Given the description of an element on the screen output the (x, y) to click on. 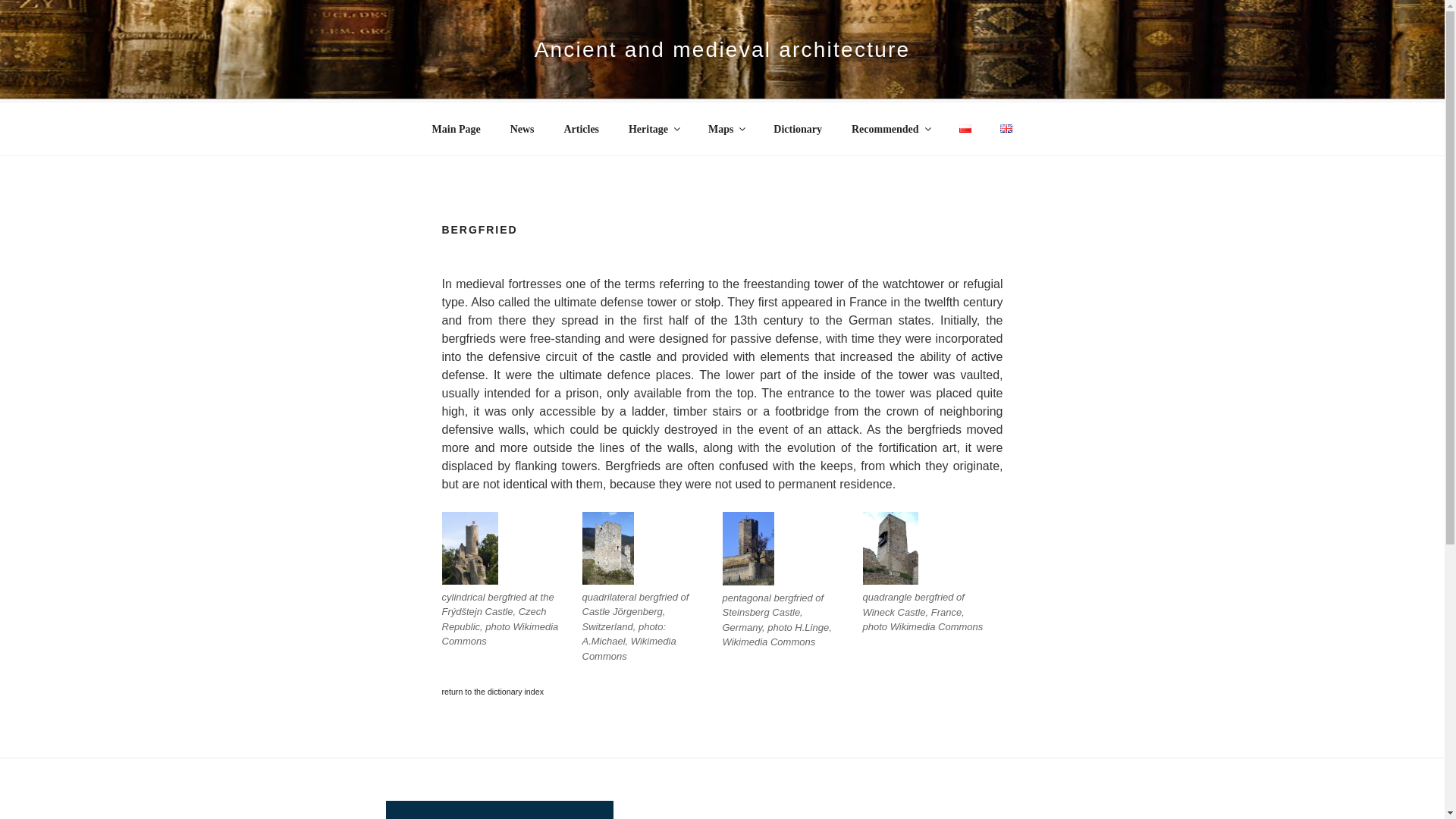
Recommended (890, 129)
Maps (725, 129)
News (521, 129)
Heritage (652, 129)
English (1005, 128)
Main Page (456, 129)
Ancient and medieval architecture (722, 49)
Articles (581, 129)
Polski (964, 128)
